Given the description of an element on the screen output the (x, y) to click on. 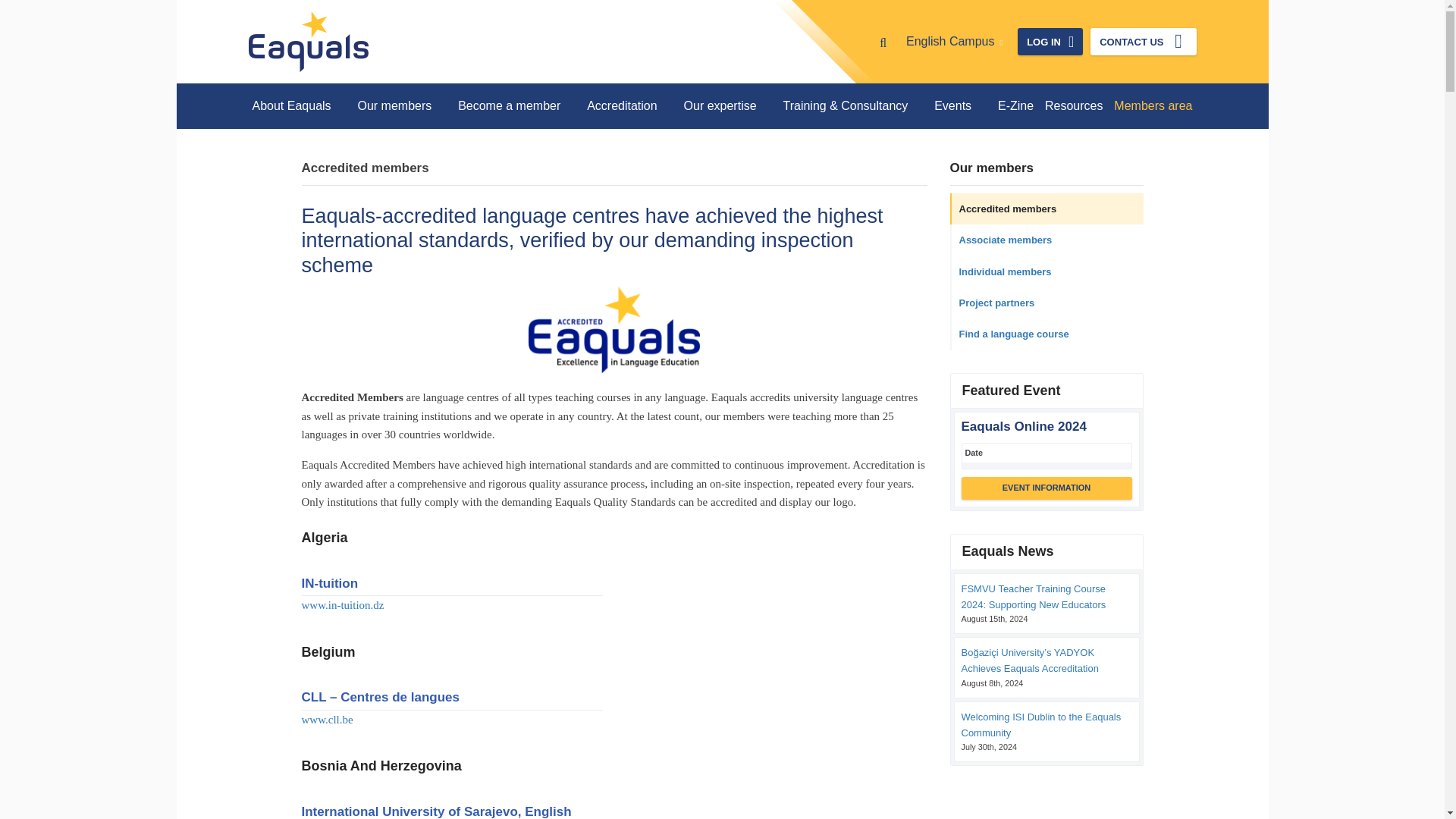
Eaquals Homepage (308, 41)
English Campus (954, 41)
Our members (401, 105)
LOG IN (1050, 41)
Become a member (516, 105)
Accreditation (630, 105)
View the profile for IN-tuition  (329, 583)
CONTACT US (1142, 41)
Our expertise (727, 105)
